Given the description of an element on the screen output the (x, y) to click on. 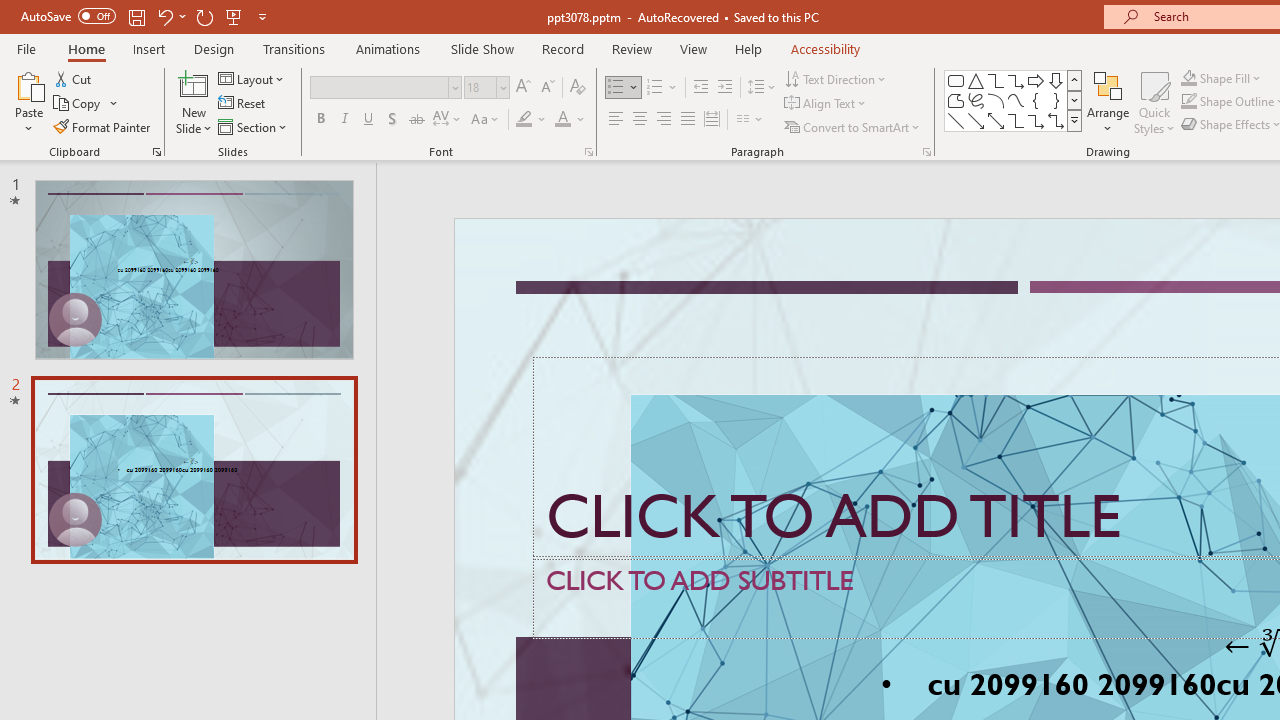
Arrow: Right (1035, 80)
Font Size (480, 87)
Insert (149, 48)
Numbering (654, 87)
Justify (687, 119)
Convert to SmartArt (853, 126)
File Tab (26, 48)
Shape Fill (1221, 78)
Font Size (486, 87)
Copy (78, 103)
Freeform: Shape (955, 100)
Class: NetUIImage (1075, 120)
Increase Font Size (522, 87)
